Given the description of an element on the screen output the (x, y) to click on. 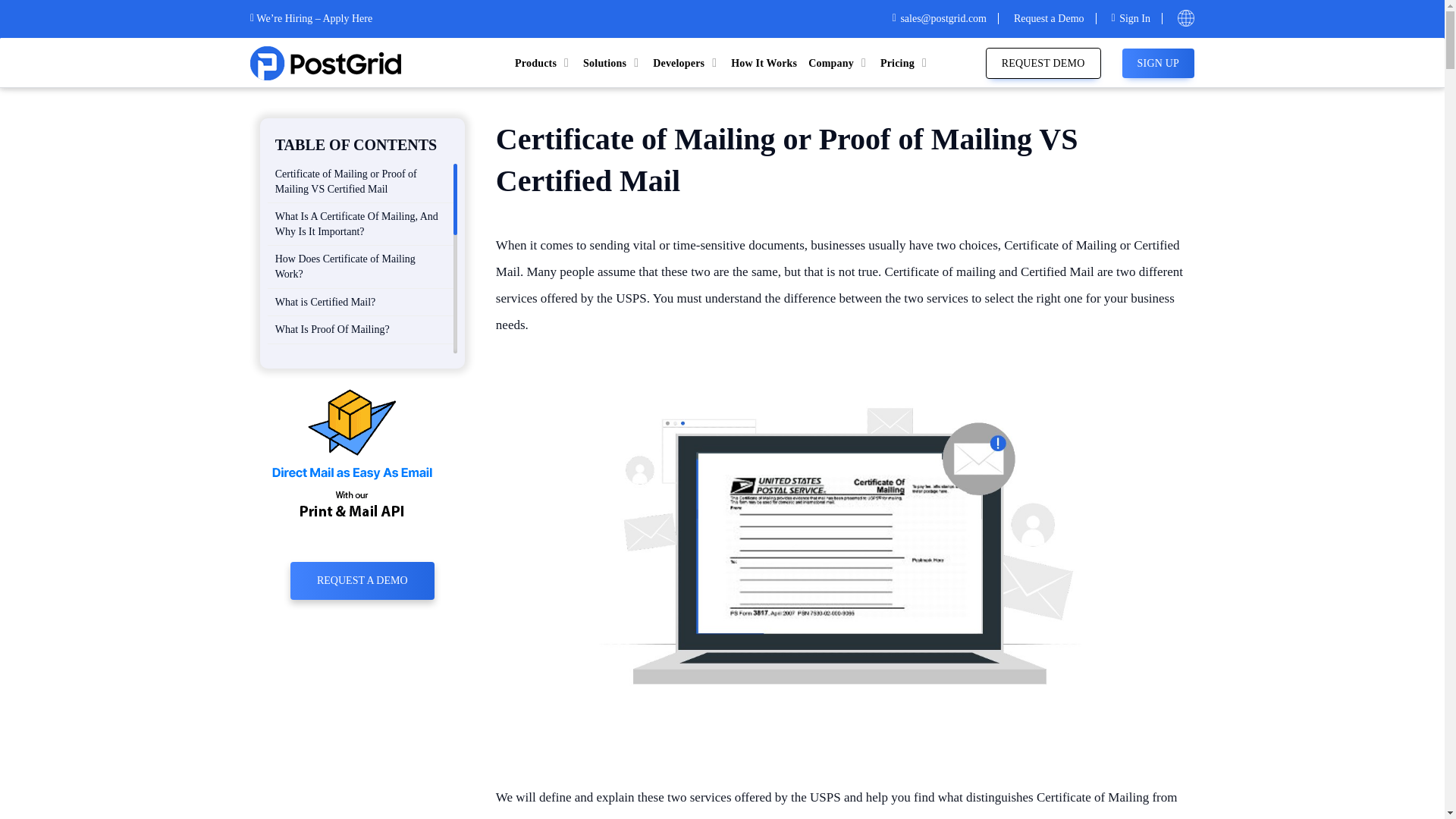
Sign In (1136, 18)
Products (543, 63)
Solutions (612, 63)
Request a Demo (1054, 18)
